Given the description of an element on the screen output the (x, y) to click on. 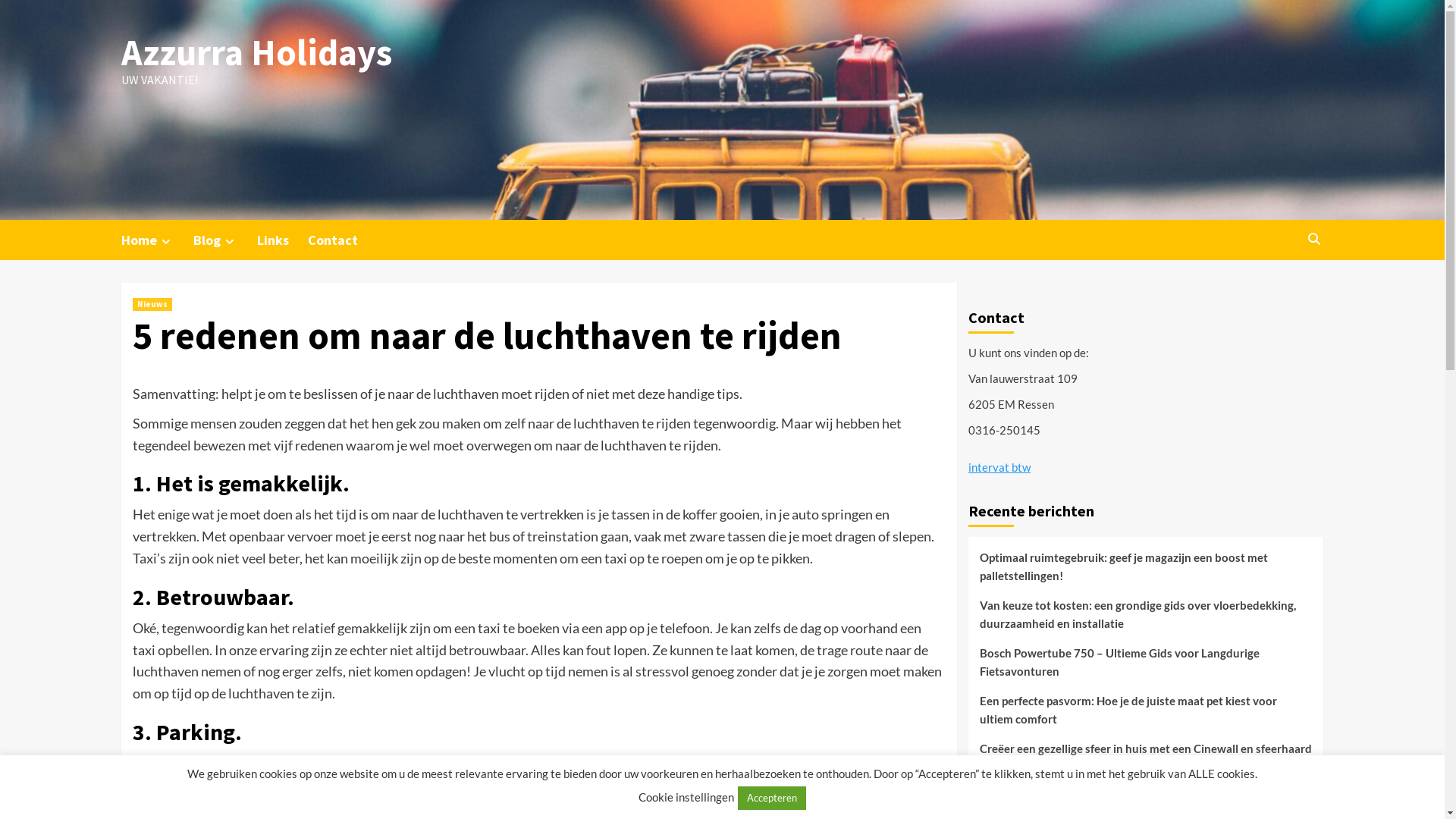
Nieuws Element type: text (152, 304)
Cookie instellingen Element type: text (686, 796)
Search Element type: hover (1313, 238)
Accepteren Element type: text (771, 797)
intervat btw Element type: text (999, 466)
Blog Element type: text (225, 239)
Contact Element type: text (341, 239)
Home Element type: text (157, 239)
Azzurra Holidays Element type: text (256, 52)
Zoeken Element type: text (1278, 285)
Links Element type: text (282, 239)
